Given the description of an element on the screen output the (x, y) to click on. 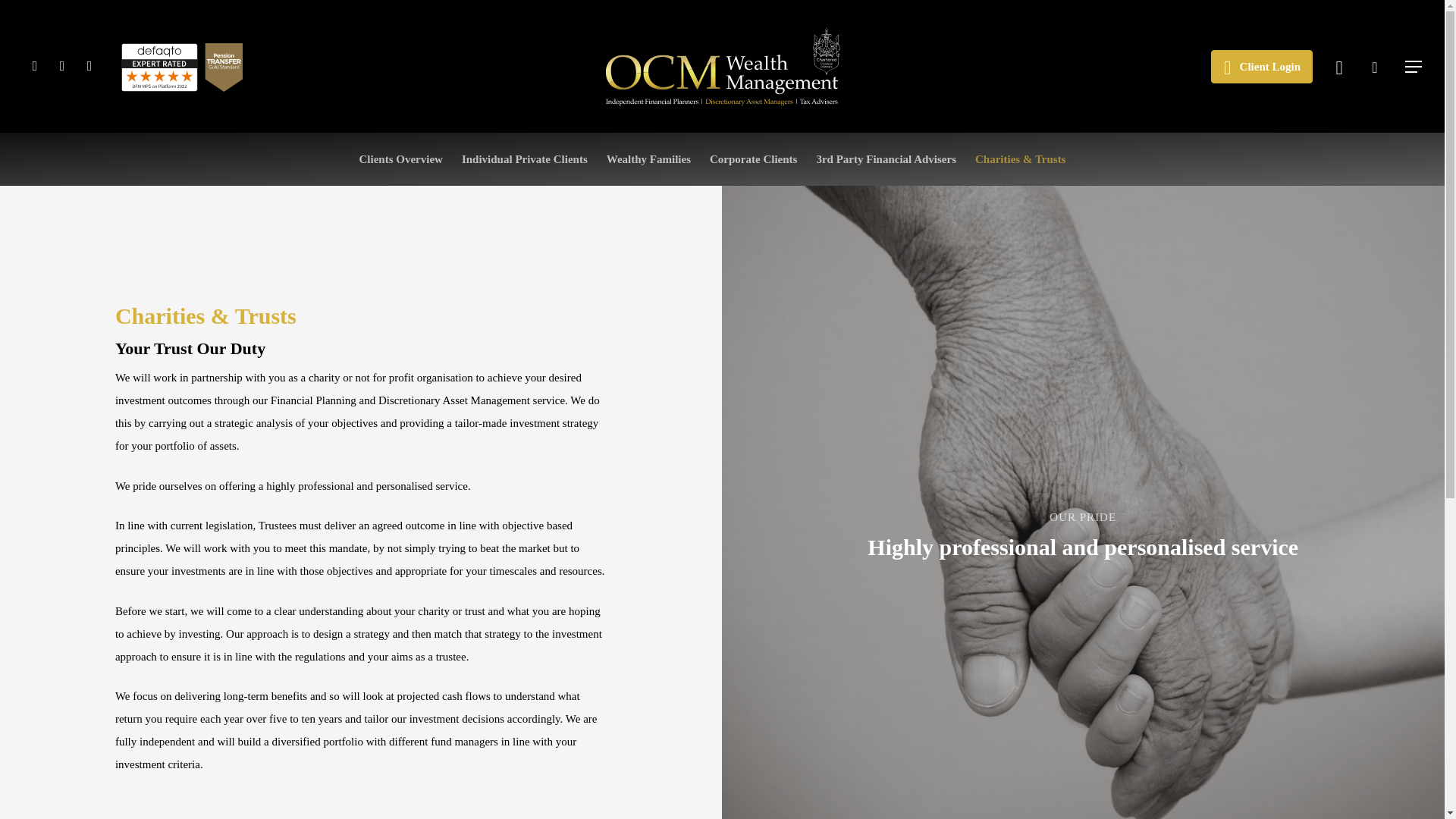
Clients Overview (400, 158)
Client Login (1262, 66)
3rd Party Financial Advisers (885, 158)
Wealthy Families (648, 158)
Individual Private Clients (524, 158)
Corporate Clients (753, 158)
